Given the description of an element on the screen output the (x, y) to click on. 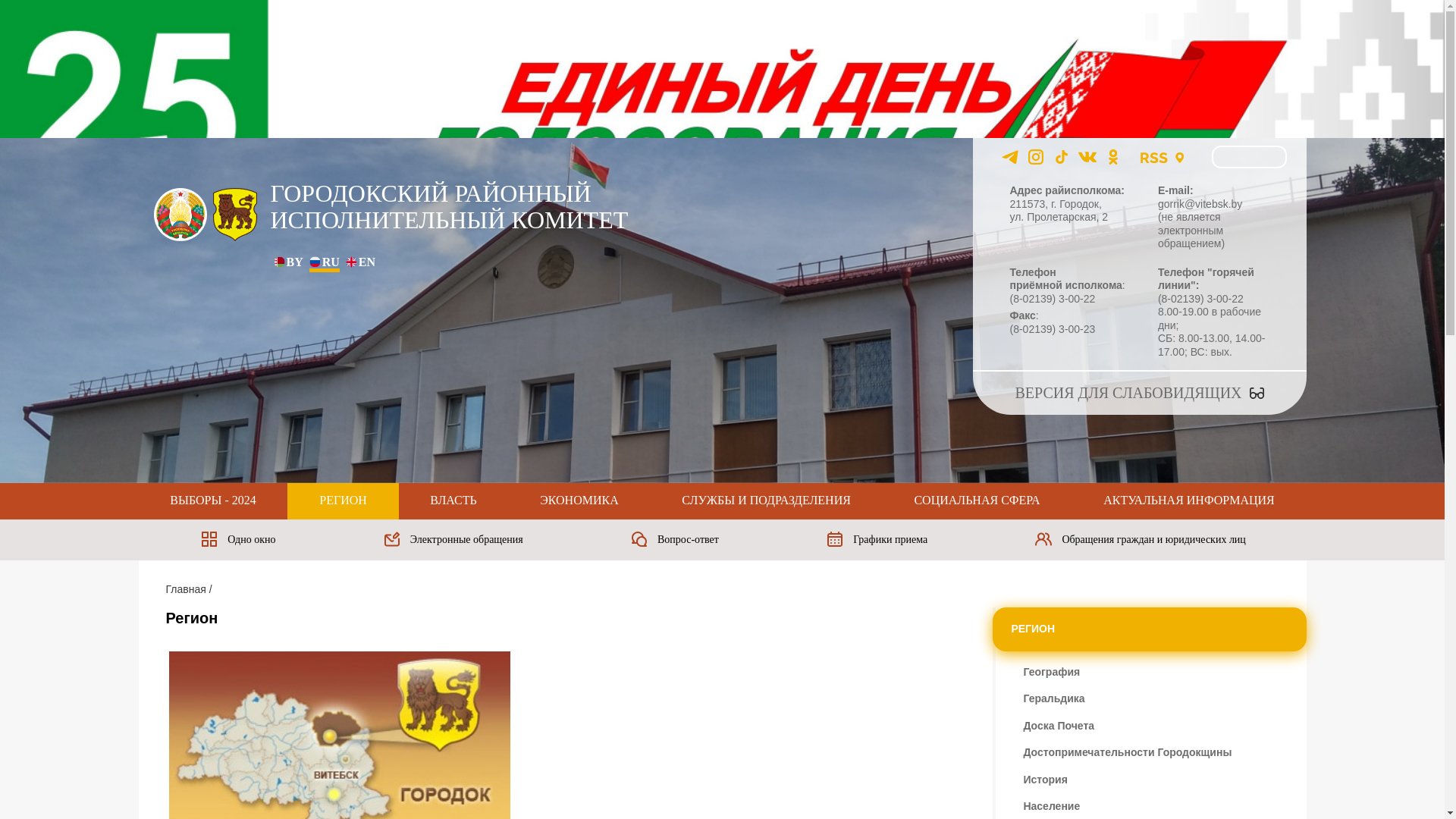
TikTok Element type: hover (1061, 156)
rss Element type: hover (1153, 156)
gorrik@vitebsk.by Element type: text (1199, 203)
rss Element type: hover (1153, 157)
BY Element type: text (287, 262)
EN Element type: hover (351, 263)
Instagram Element type: hover (1035, 156)
EN Element type: text (360, 262)
Telegram Element type: hover (1010, 156)
BY Element type: hover (279, 263)
OK.ru Element type: hover (1113, 156)
RU Element type: hover (315, 263)
